Given the description of an element on the screen output the (x, y) to click on. 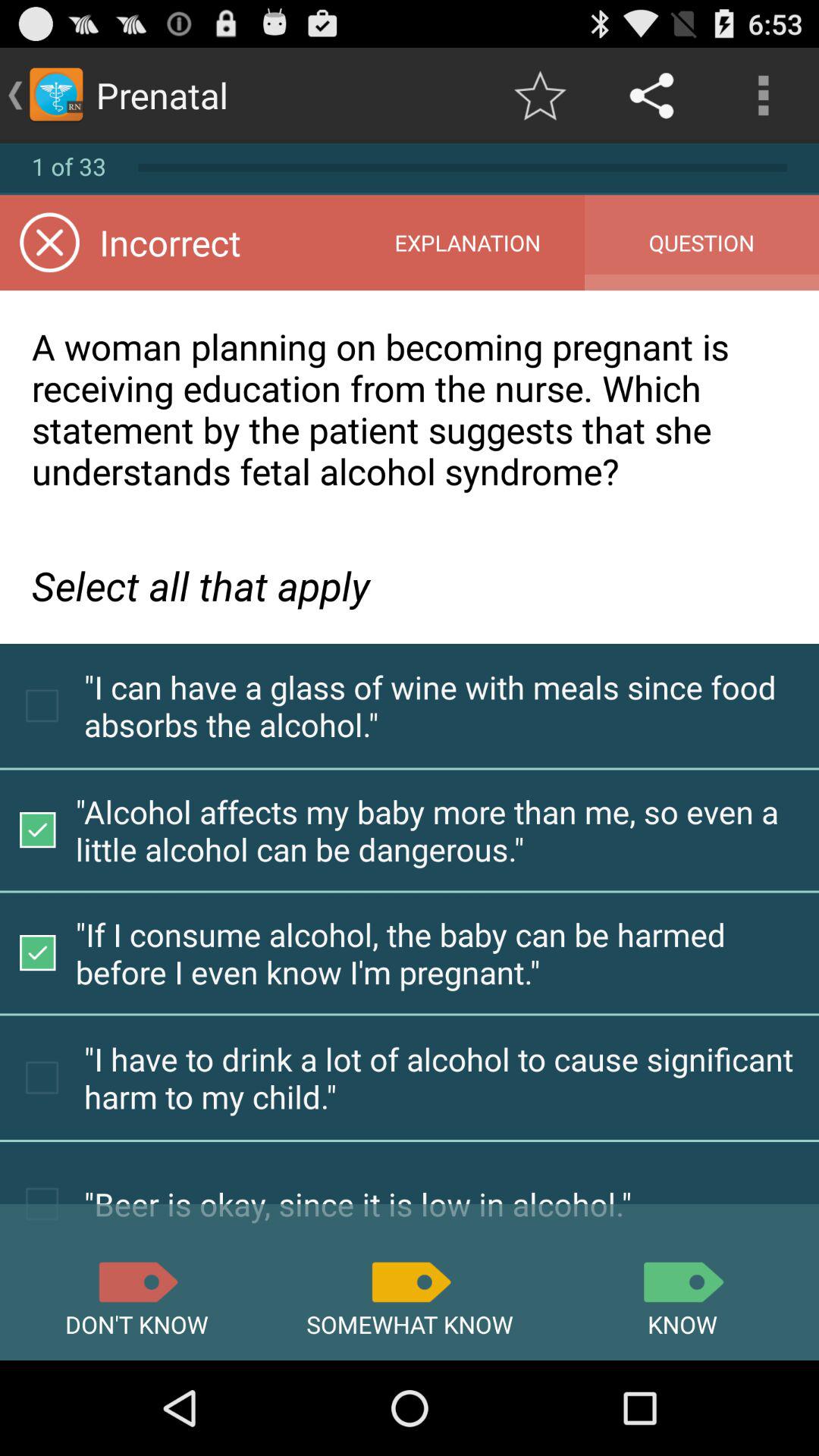
flip until question item (701, 242)
